Given the description of an element on the screen output the (x, y) to click on. 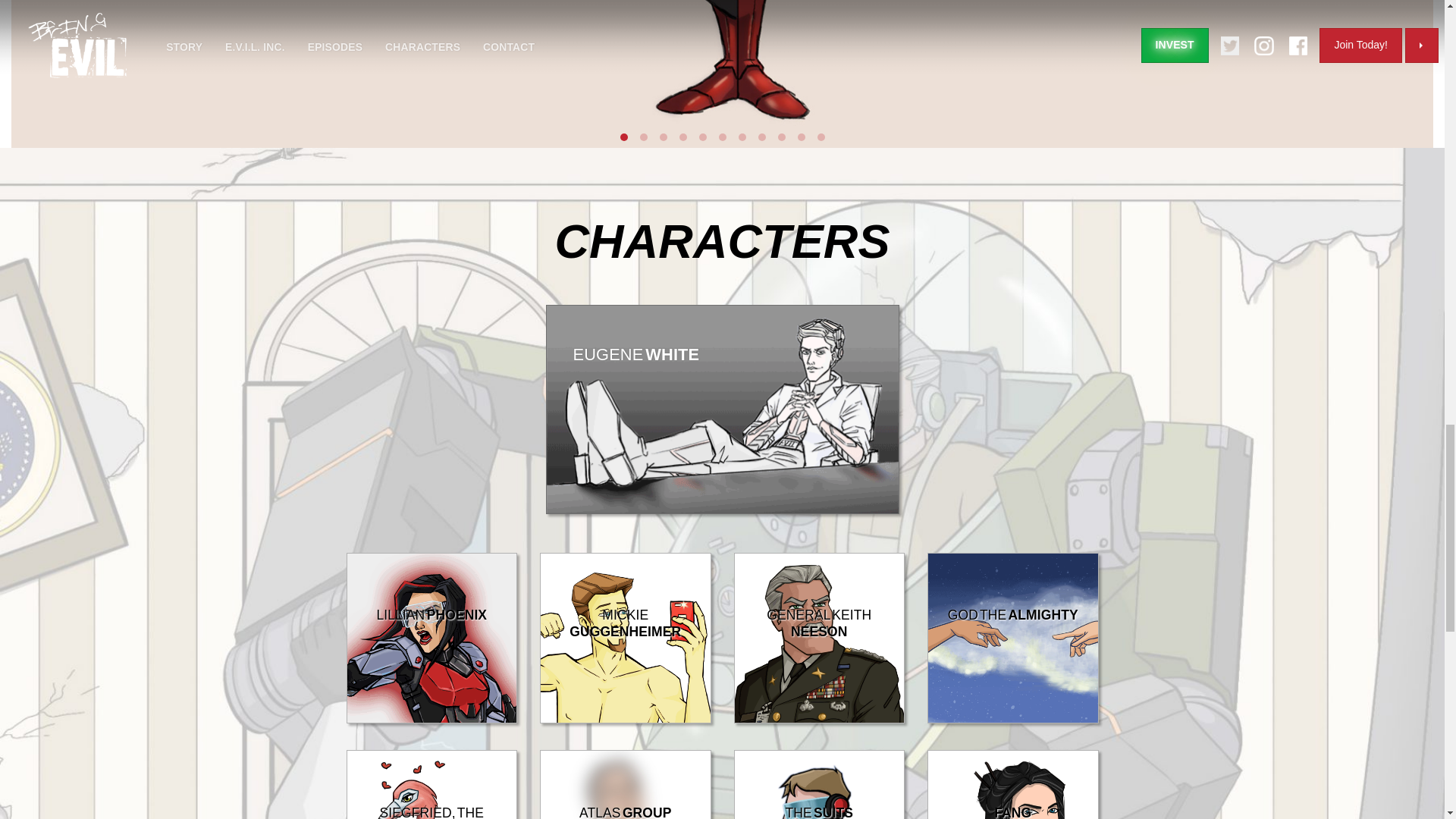
EUGENE WHITE (722, 510)
LILLIAN PHOENIX (431, 719)
GOD THE ALMIGHTY (1013, 719)
GENERAL KEITH NEESON (819, 719)
MICKIE GUGGENHEIMER (625, 719)
